Given the description of an element on the screen output the (x, y) to click on. 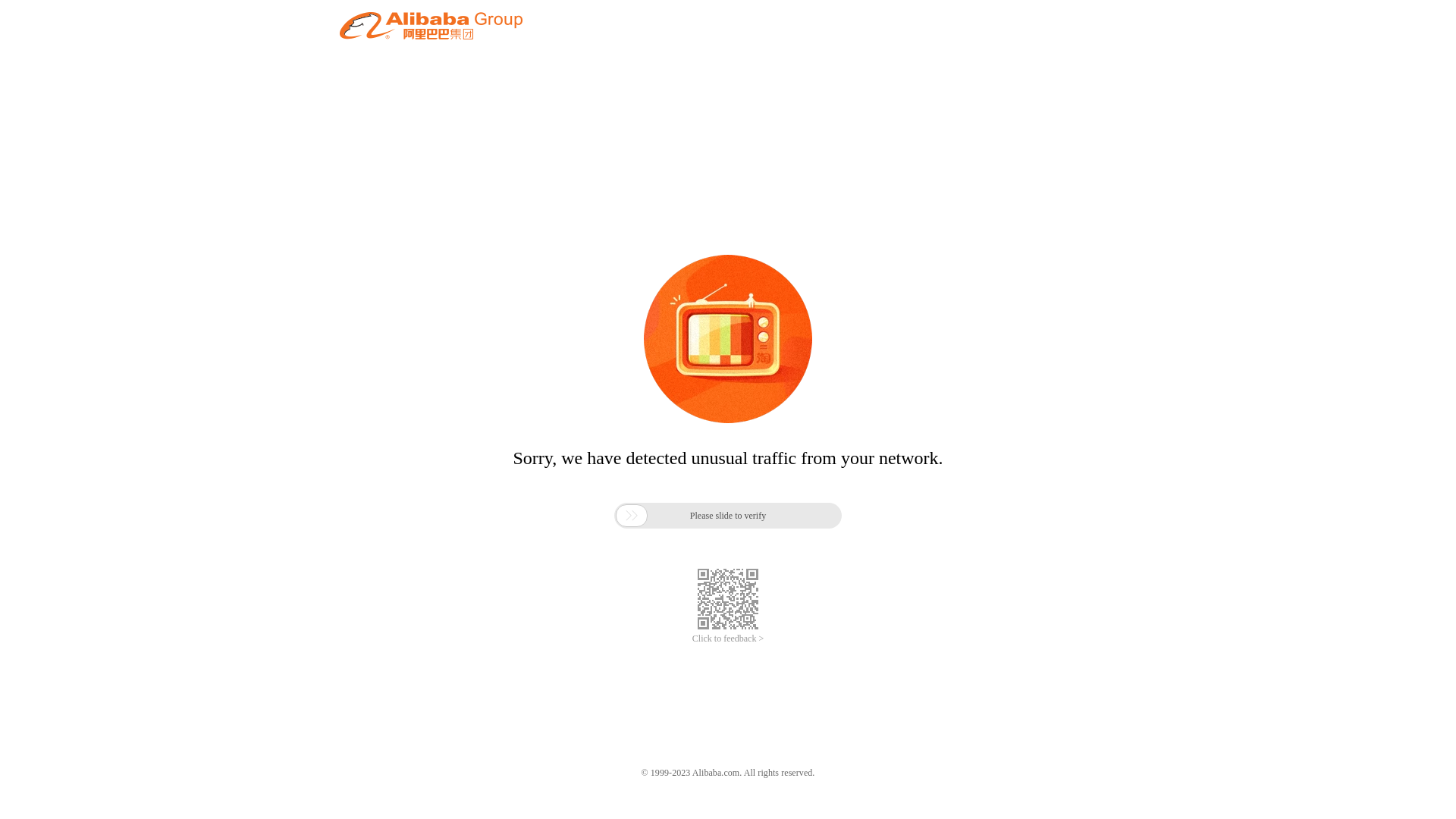
Click to feedback > Element type: text (727, 638)
